Given the description of an element on the screen output the (x, y) to click on. 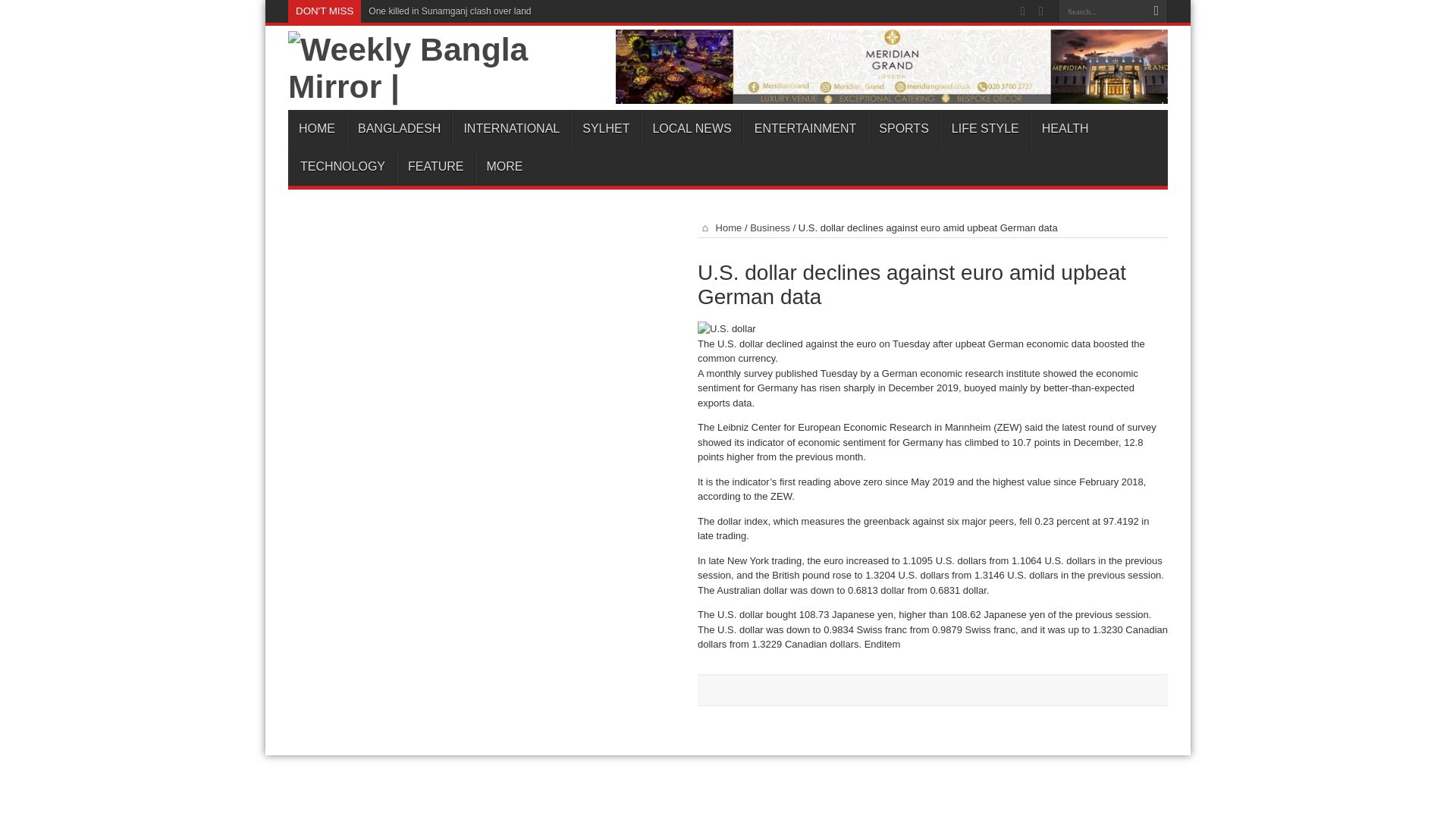
One killed in Sunamganj clash over land (449, 11)
FEATURE (435, 166)
Home (719, 227)
One killed in Sunamganj clash over land (449, 11)
MORE (503, 166)
ENTERTAINMENT (804, 128)
LIFE STYLE (984, 128)
Search... (1101, 11)
LOCAL NEWS (690, 128)
TECHNOLOGY (342, 166)
